Given the description of an element on the screen output the (x, y) to click on. 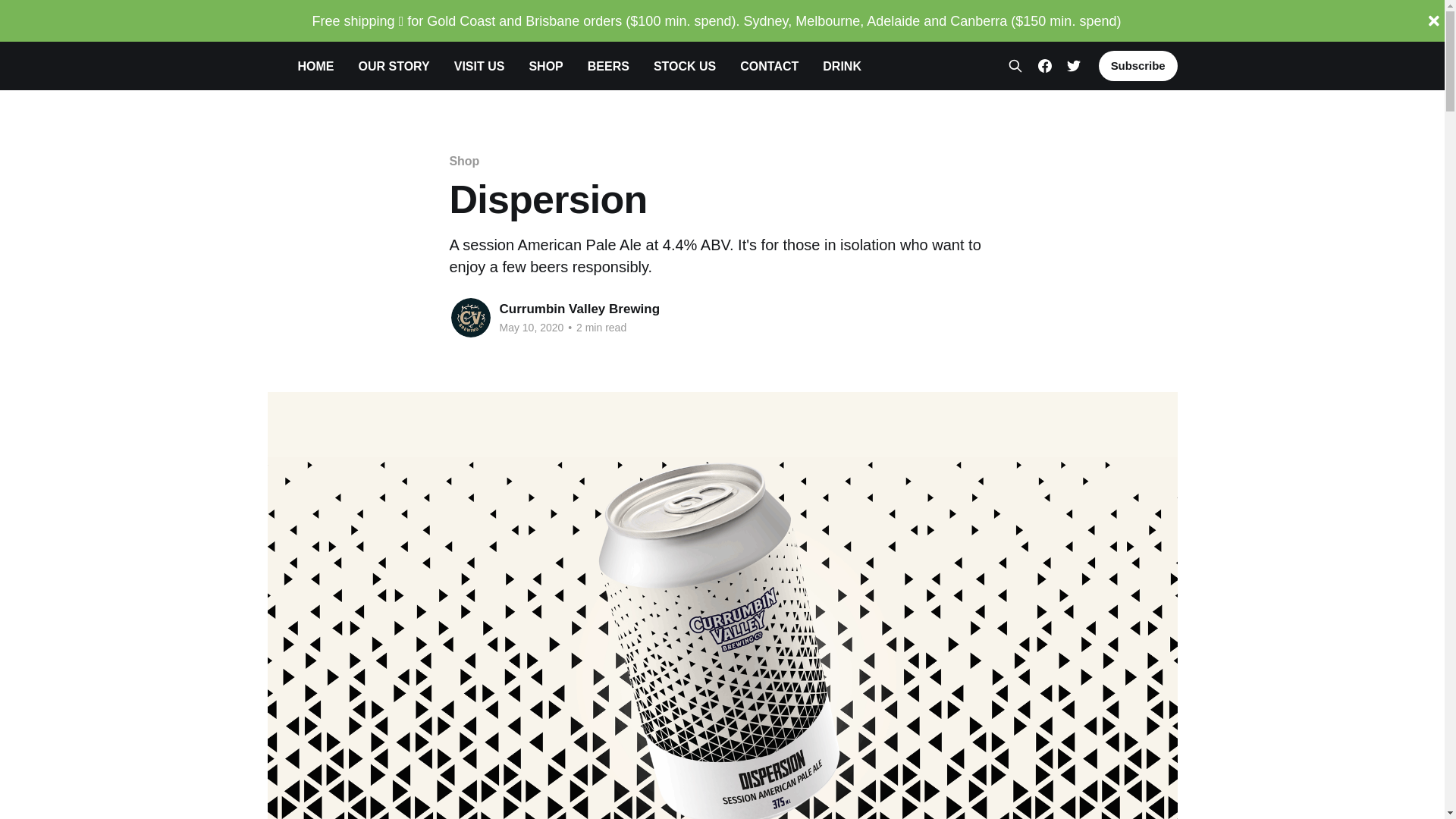
Shop Element type: text (463, 160)
Currumbin Valley Brewing Element type: text (578, 308)
Facebook Element type: hover (1044, 65)
BEERS Element type: text (608, 66)
SHOP Element type: text (545, 66)
VISIT US Element type: text (479, 66)
HOME Element type: text (315, 66)
STOCK US Element type: text (684, 66)
Twitter Element type: hover (1073, 65)
OUR STORY Element type: text (393, 66)
Subscribe Element type: text (1137, 65)
CONTACT Element type: text (769, 66)
DRINK Element type: text (841, 66)
